Given the description of an element on the screen output the (x, y) to click on. 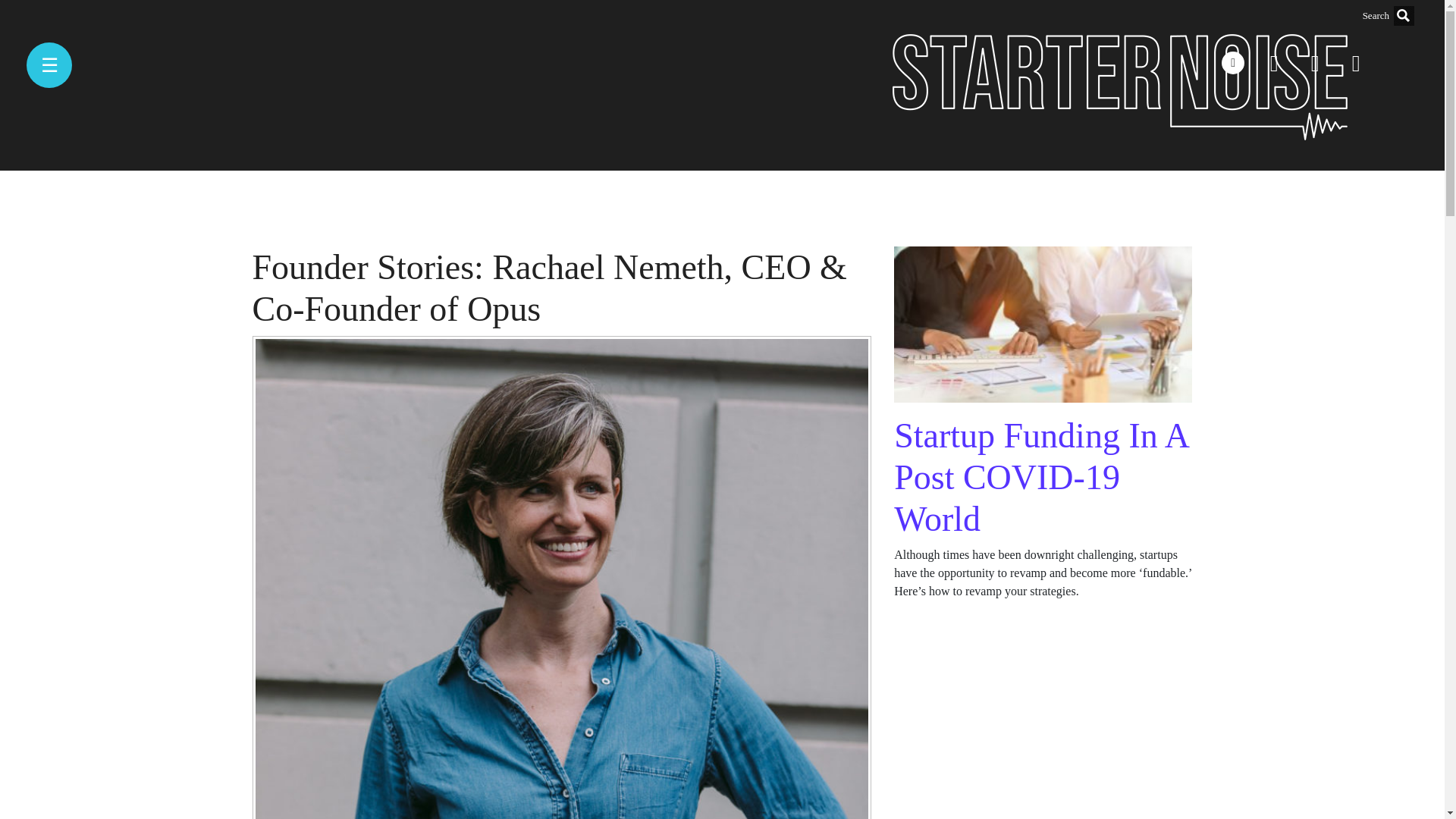
Search (16, 119)
? (1403, 15)
Subscribe (27, 784)
search (1329, 15)
